Given the description of an element on the screen output the (x, y) to click on. 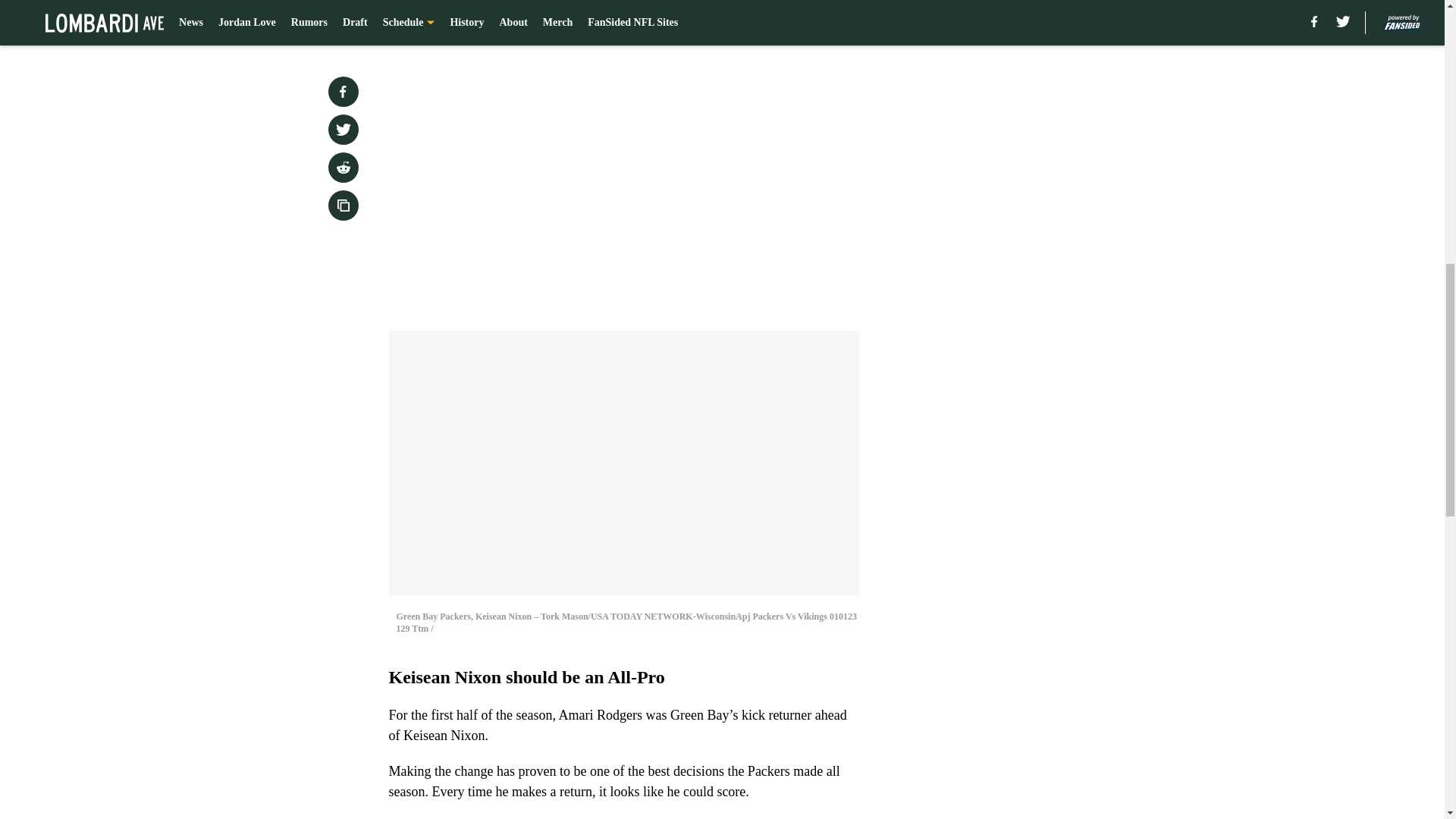
Next (813, 20)
Prev (433, 20)
